Given the description of an element on the screen output the (x, y) to click on. 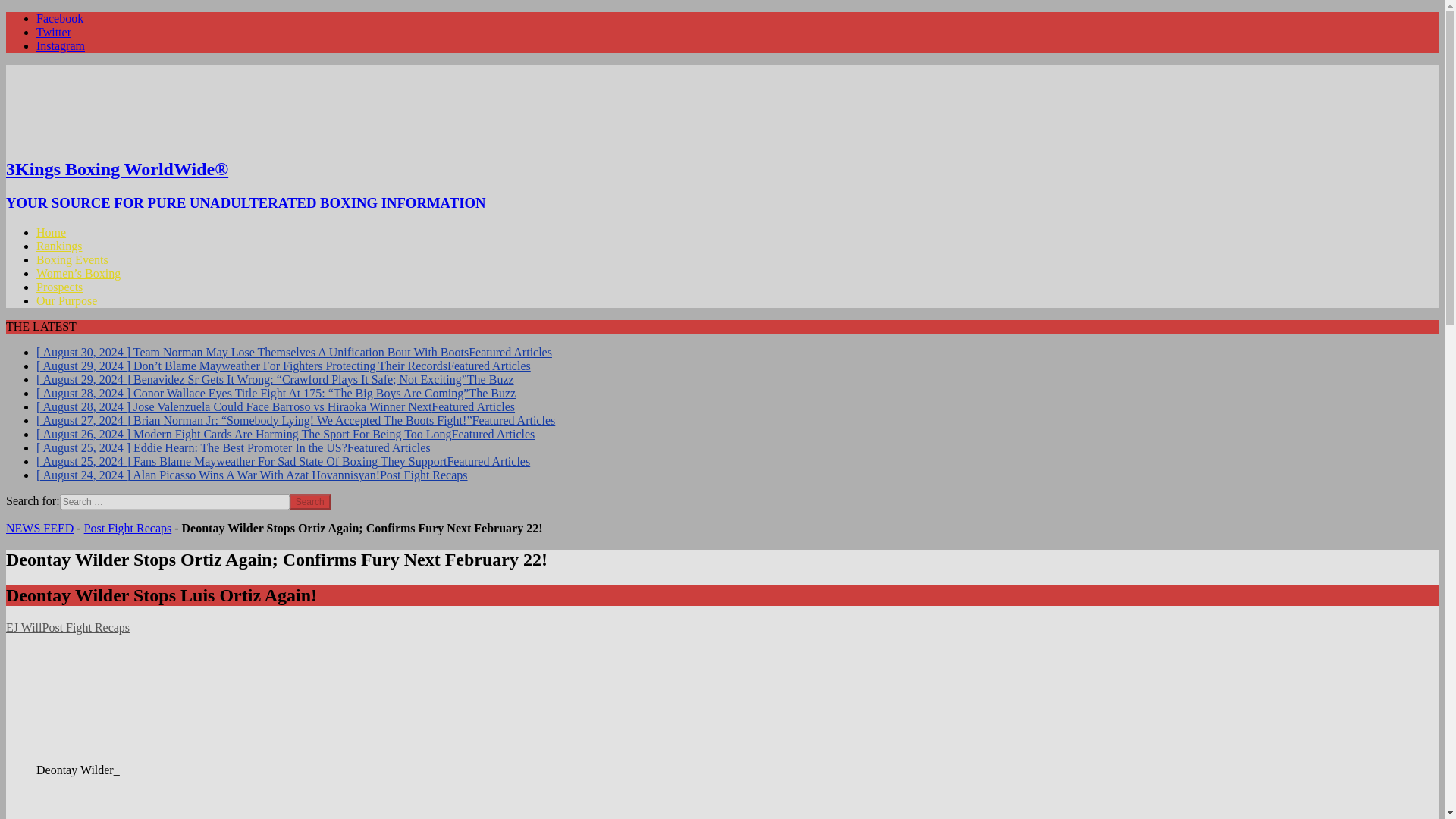
Eddie Hearn: The Best Promoter In the US? (233, 447)
Home (50, 232)
Twitter (53, 31)
Jose Valenzuela Could Face Barroso vs Hiraoka Winner Next (275, 406)
Follow 3Kings on Twitter (53, 31)
Our Purpose (66, 300)
NEWS FEED (39, 527)
Fans Blame Mayweather For Sad State Of Boxing They Support (282, 461)
Instagram (60, 45)
Search (309, 501)
